Given the description of an element on the screen output the (x, y) to click on. 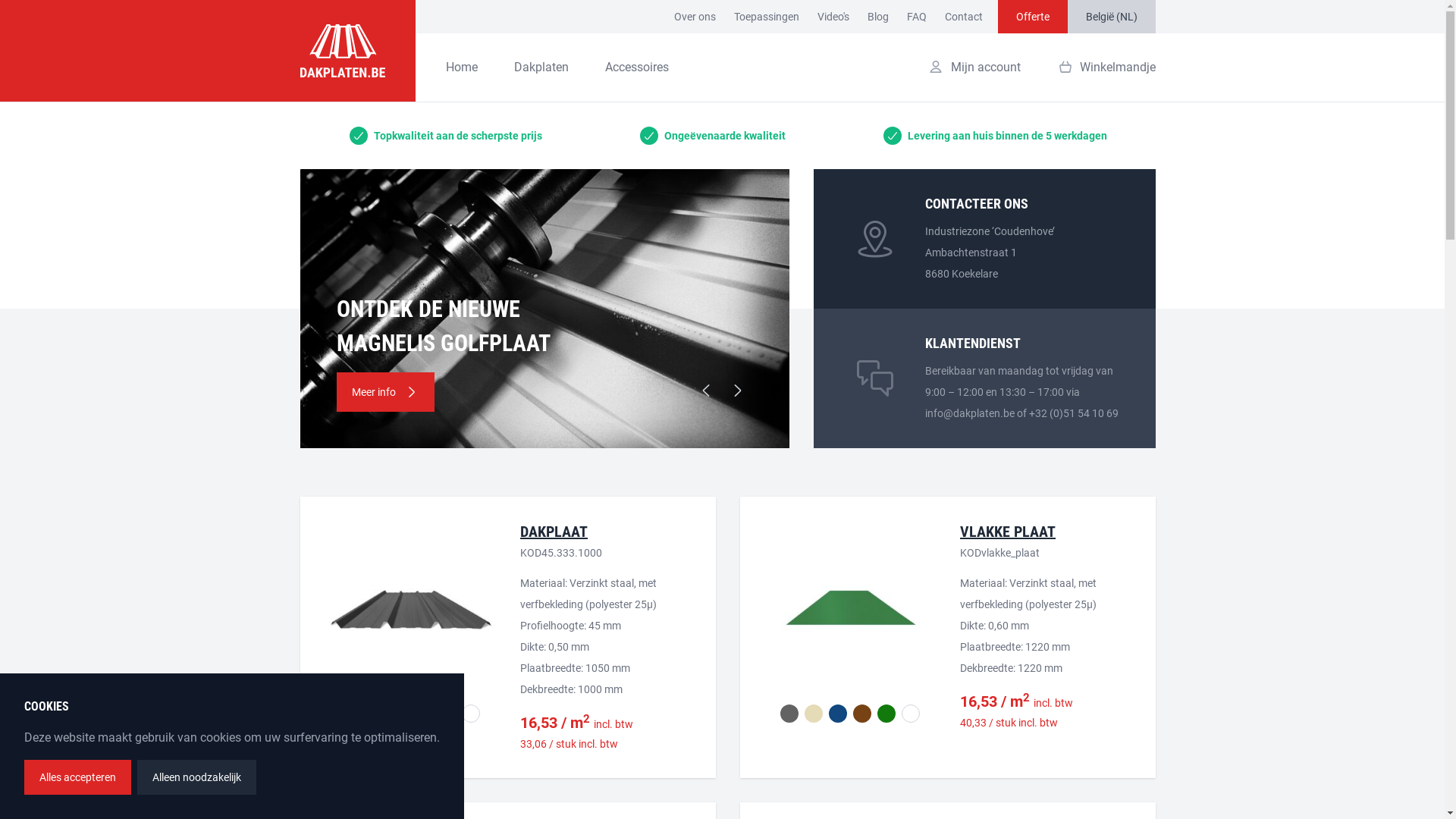
Home Element type: text (461, 67)
FAQ Element type: text (916, 16)
Toepassingen Element type: text (766, 16)
Meer info Element type: text (385, 391)
Alles accepteren Element type: text (77, 776)
VLAKKE PLAAT Element type: text (1007, 531)
Video's Element type: text (833, 16)
Winkelmandje Element type: text (1105, 67)
DAKPLAAT Element type: text (553, 531)
Offerte Element type: text (1032, 16)
Contact Element type: text (963, 16)
Over ons Element type: text (694, 16)
Mijn account Element type: text (973, 67)
Accessoires Element type: text (636, 67)
Dakplaten Element type: text (540, 67)
Alleen noodzakelijk Element type: text (196, 776)
Blog Element type: text (877, 16)
